Given the description of an element on the screen output the (x, y) to click on. 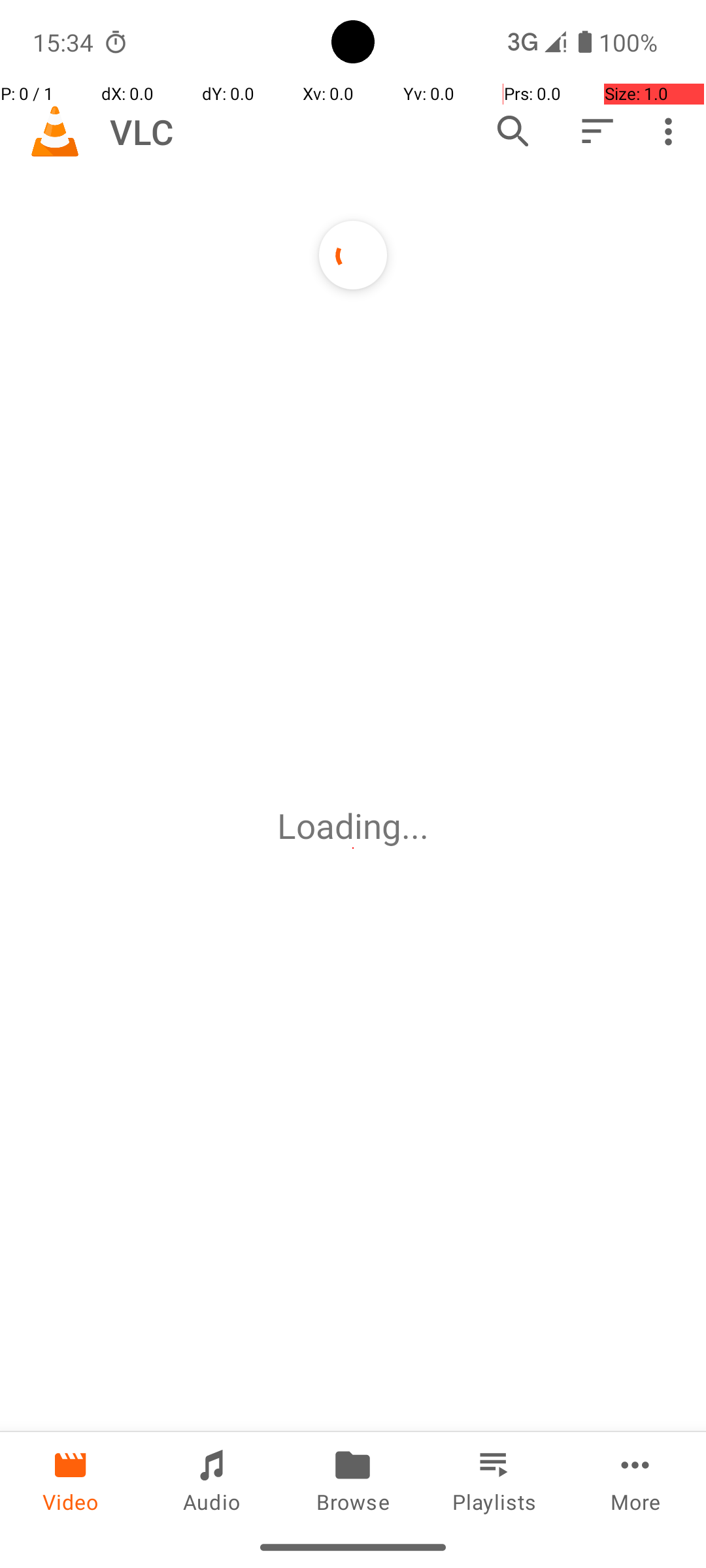
Sort by… Element type: android.widget.TextView (595, 131)
Loading Element type: android.widget.TextView (339, 825)
... Element type: android.widget.TextView (414, 825)
Video Element type: android.widget.FrameLayout (70, 1478)
Browse Element type: android.widget.FrameLayout (352, 1478)
